Given the description of an element on the screen output the (x, y) to click on. 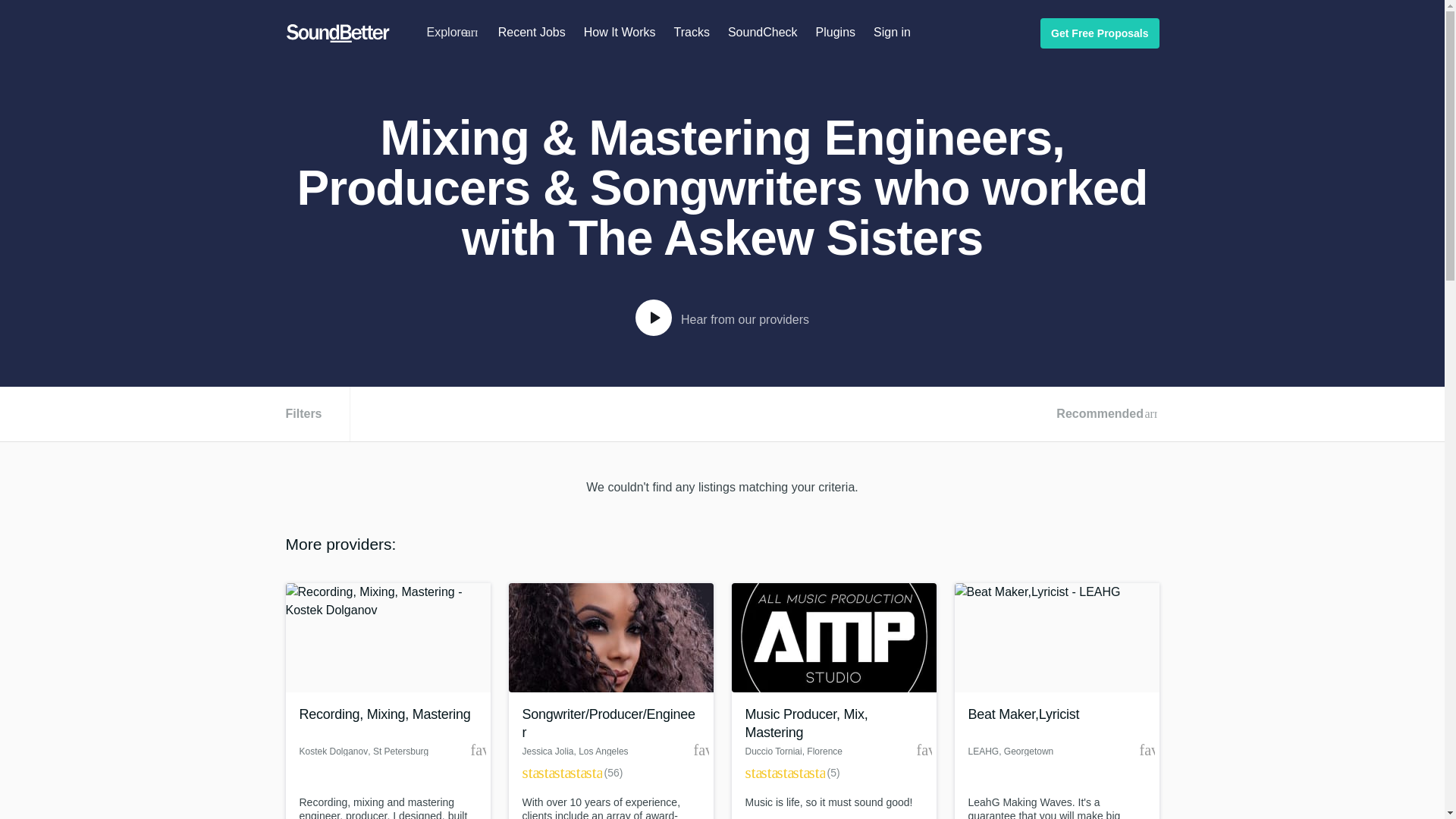
SoundBetter (337, 33)
